Given the description of an element on the screen output the (x, y) to click on. 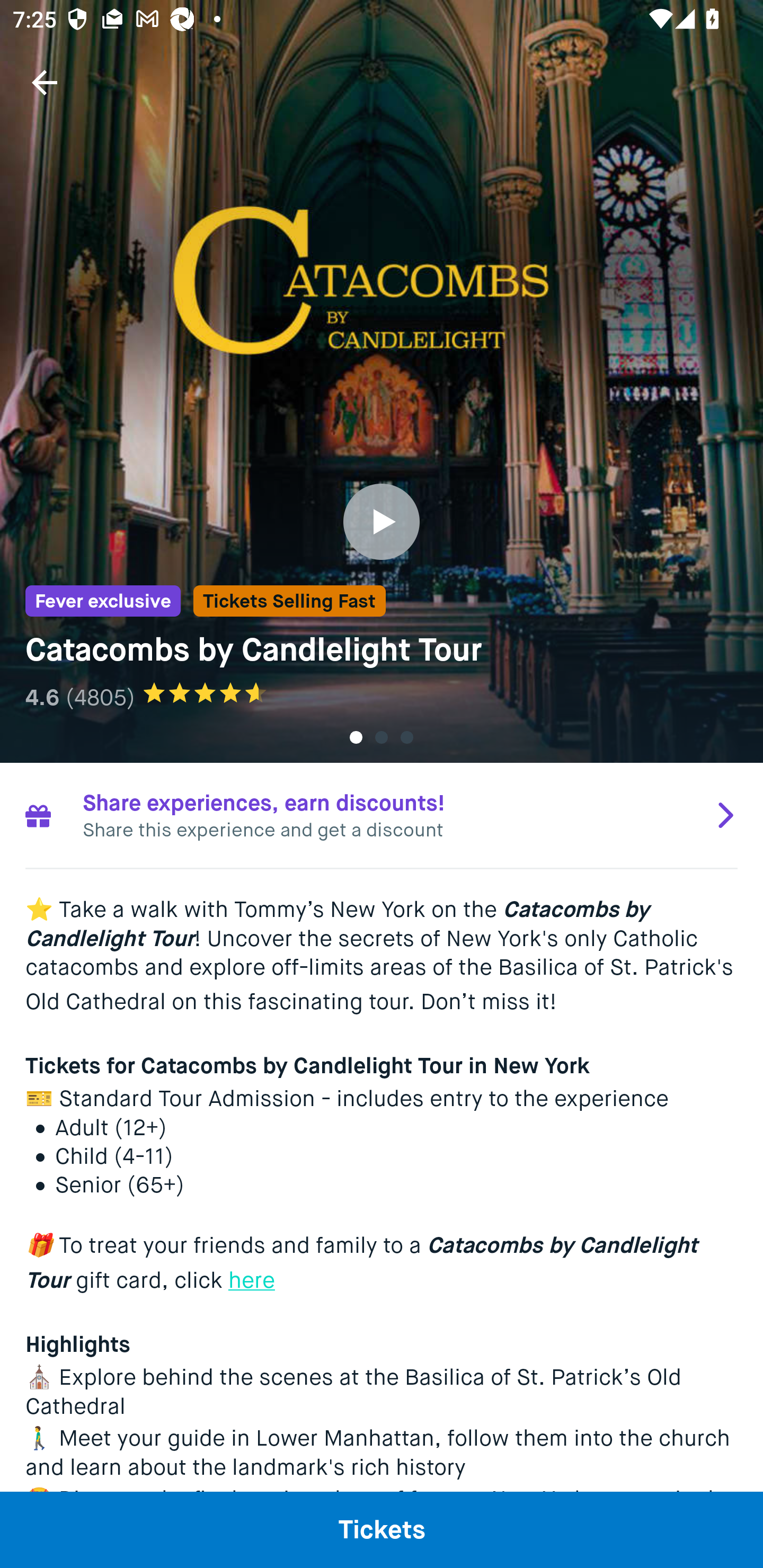
Navigate up (44, 82)
(4805) (100, 697)
Tickets (381, 1529)
